Given the description of an element on the screen output the (x, y) to click on. 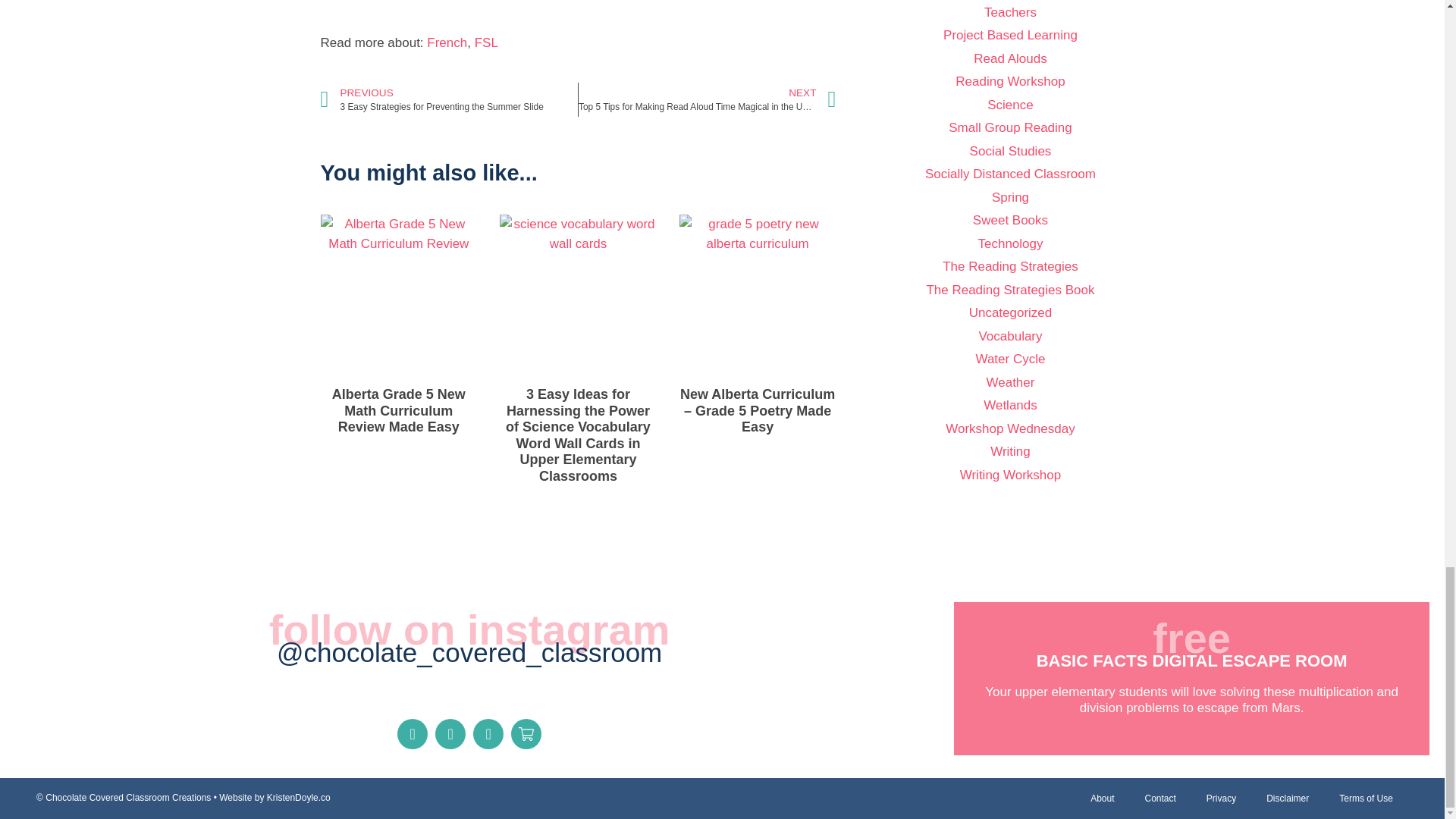
FSL (448, 99)
French (485, 42)
Alberta Grade 5 New Math Curriculum Review Made Easy (446, 42)
